Given the description of an element on the screen output the (x, y) to click on. 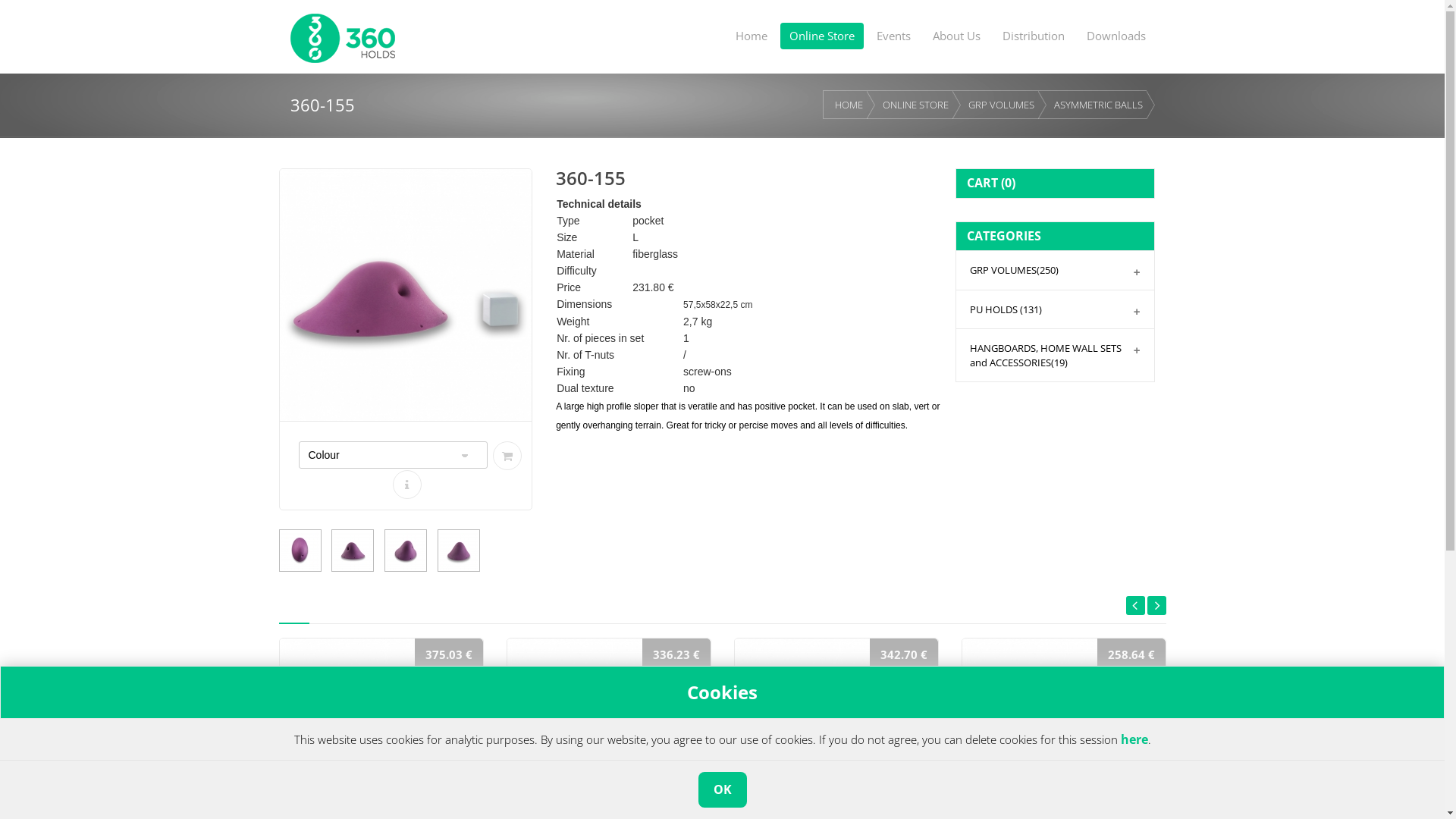
Online Store Element type: text (820, 35)
HANGBOARDS, HOME WALL SETS and ACCESSORIES(19) Element type: text (1055, 355)
Distribution Element type: text (1033, 35)
GRP VOLUMES(250) Element type: text (1055, 270)
HOME Element type: text (848, 104)
Events Element type: text (893, 35)
ASYMMETRIC BALLS Element type: text (1098, 104)
ONLINE STORE Element type: text (915, 104)
About Us Element type: text (956, 35)
here Element type: text (1134, 739)
Downloads Element type: text (1115, 35)
PU HOLDS (131) Element type: text (1055, 309)
OK Element type: text (721, 789)
GRP VOLUMES Element type: text (1001, 104)
Home Element type: text (751, 35)
